Given the description of an element on the screen output the (x, y) to click on. 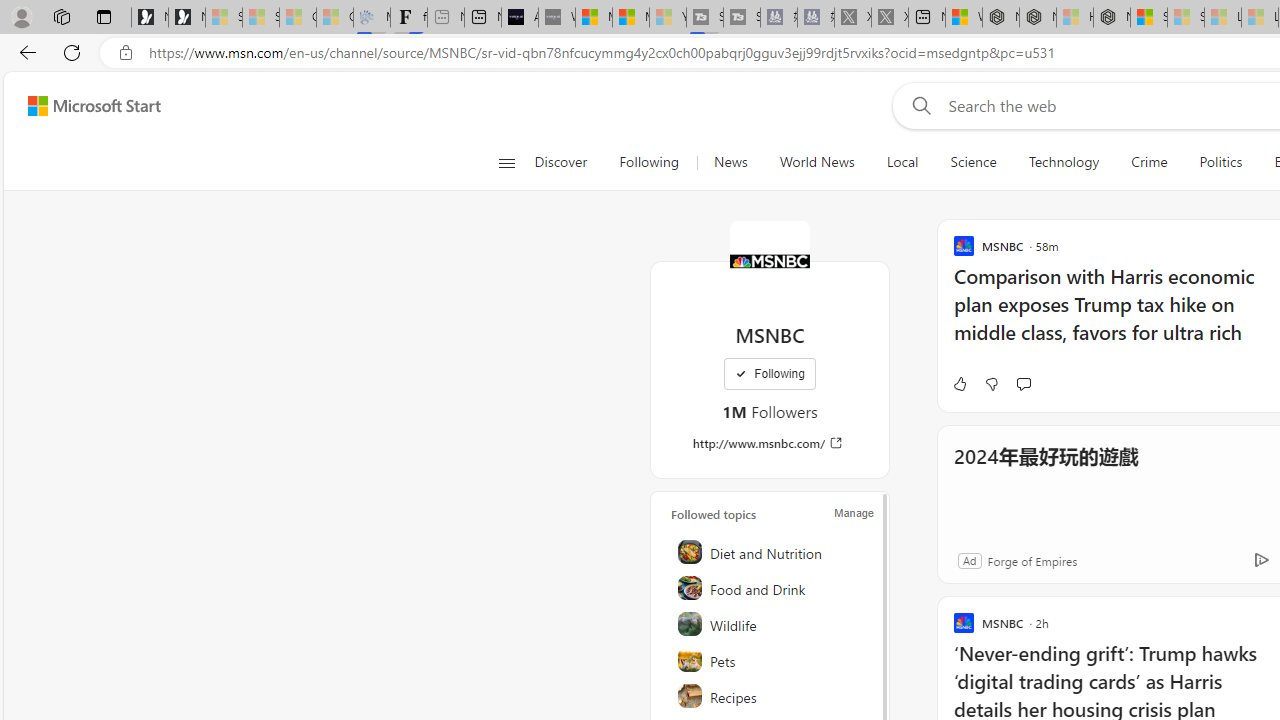
Wildlife (771, 623)
World News (816, 162)
Technology (1063, 162)
Politics (1220, 162)
World News (817, 162)
MSNBC (769, 260)
Local (902, 162)
